Given the description of an element on the screen output the (x, y) to click on. 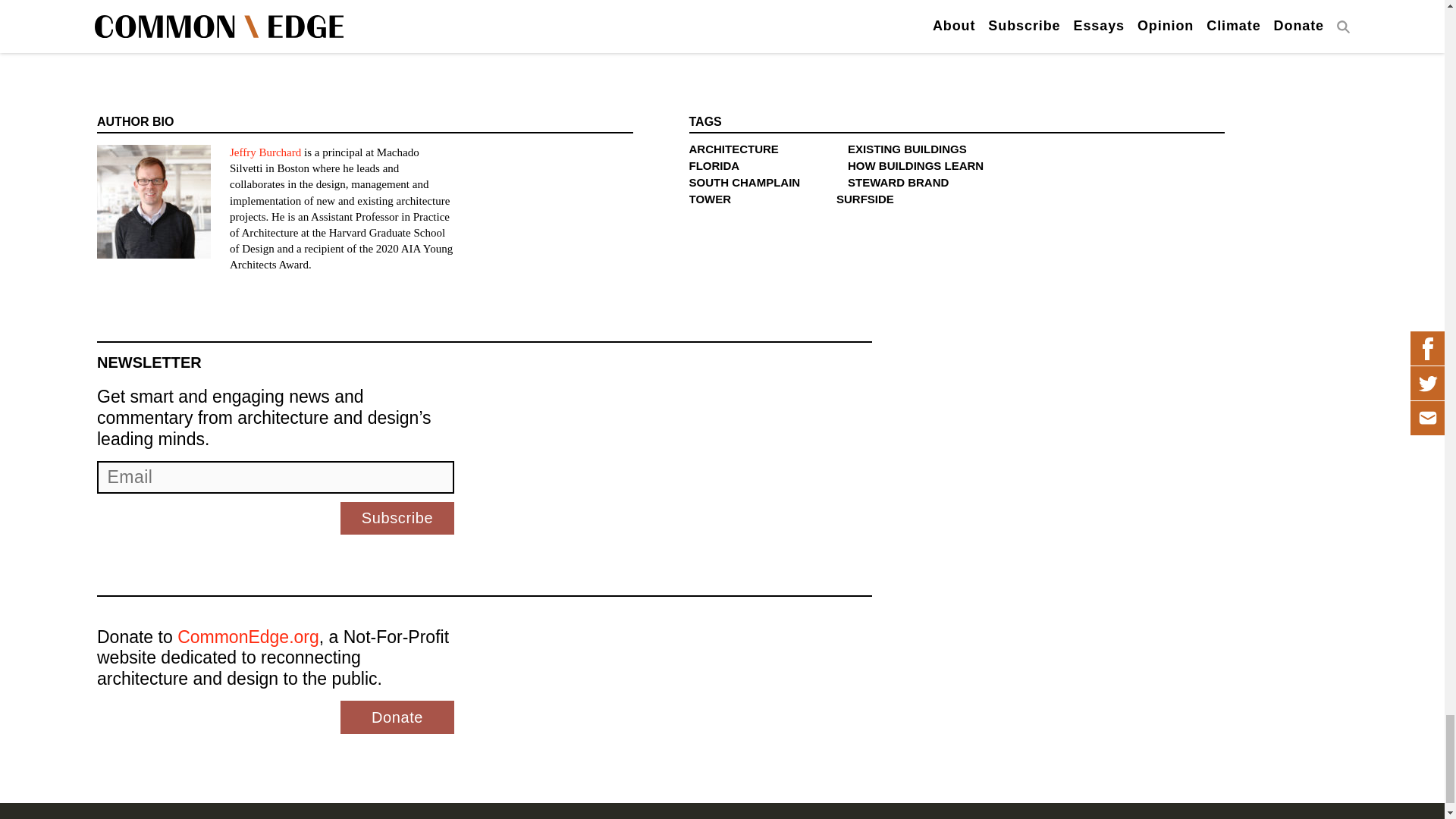
Donate (397, 717)
HOW BUILDINGS LEARN (915, 164)
STEWARD BRAND (898, 182)
SOUTH CHAMPLAIN TOWER (743, 190)
Subscribe (397, 518)
FLORIDA (713, 164)
ARCHITECTURE (732, 148)
EXISTING BUILDINGS (906, 148)
Subscribe (397, 518)
Jeffry Burchard (265, 152)
SURFSIDE (864, 198)
